Given the description of an element on the screen output the (x, y) to click on. 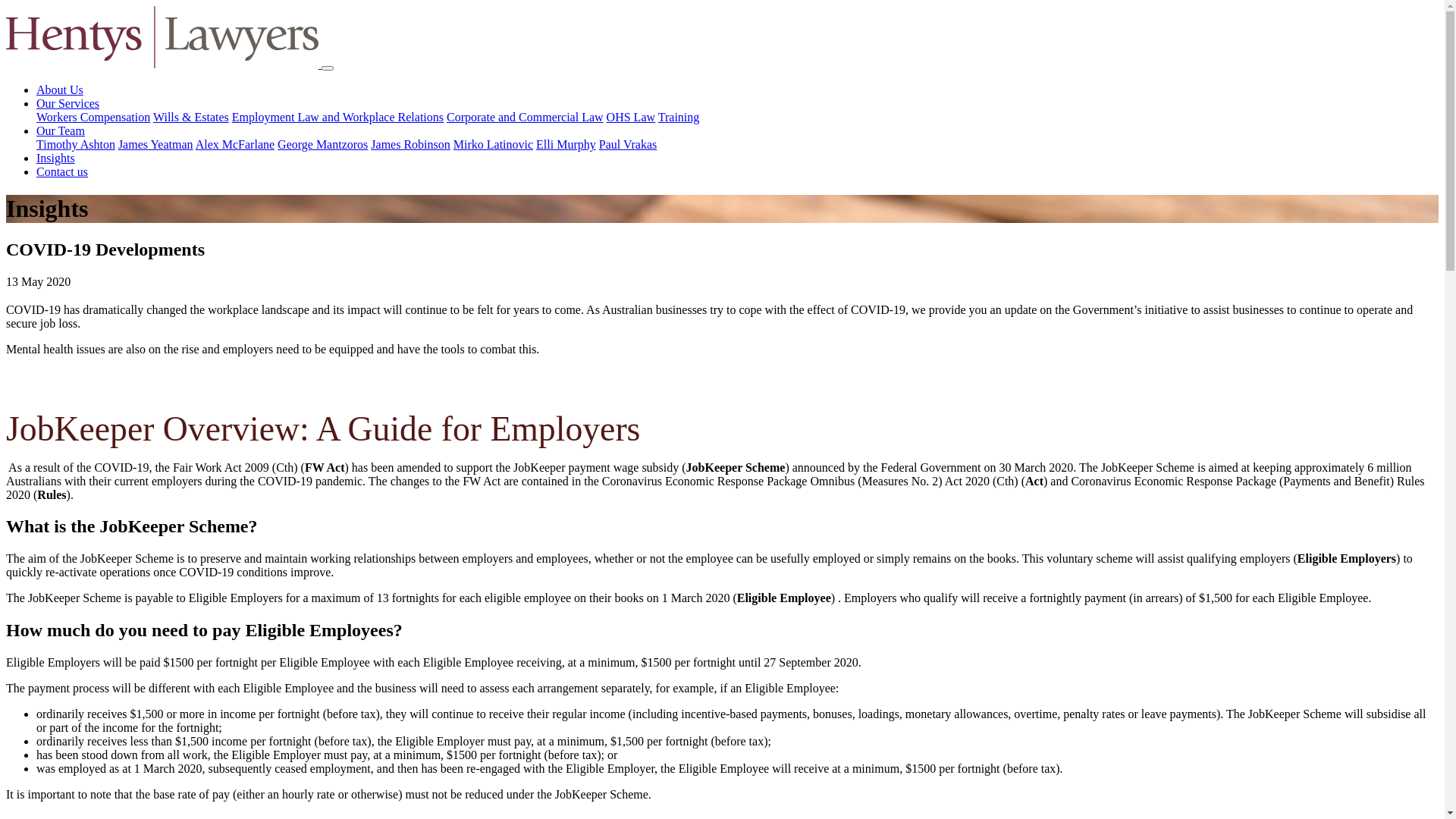
Elli Murphy Element type: text (566, 144)
Corporate and Commercial Law Element type: text (524, 116)
Wills & Estates Element type: text (191, 116)
Timothy Ashton Element type: text (75, 144)
James Robinson Element type: text (409, 144)
Mirko Latinovic Element type: text (493, 144)
Our Services Element type: text (67, 103)
Workers Compensation Element type: text (93, 116)
Paul Vrakas Element type: text (628, 144)
Contact us Element type: text (61, 171)
OHS Law Element type: text (630, 116)
Employment Law and Workplace Relations Element type: text (337, 116)
Our Team Element type: text (60, 130)
James Yeatman Element type: text (155, 144)
Training Element type: text (678, 116)
Alex McFarlane Element type: text (234, 144)
About Us Element type: text (59, 89)
George Mantzoros Element type: text (322, 144)
Insights Element type: text (55, 157)
